Given the description of an element on the screen output the (x, y) to click on. 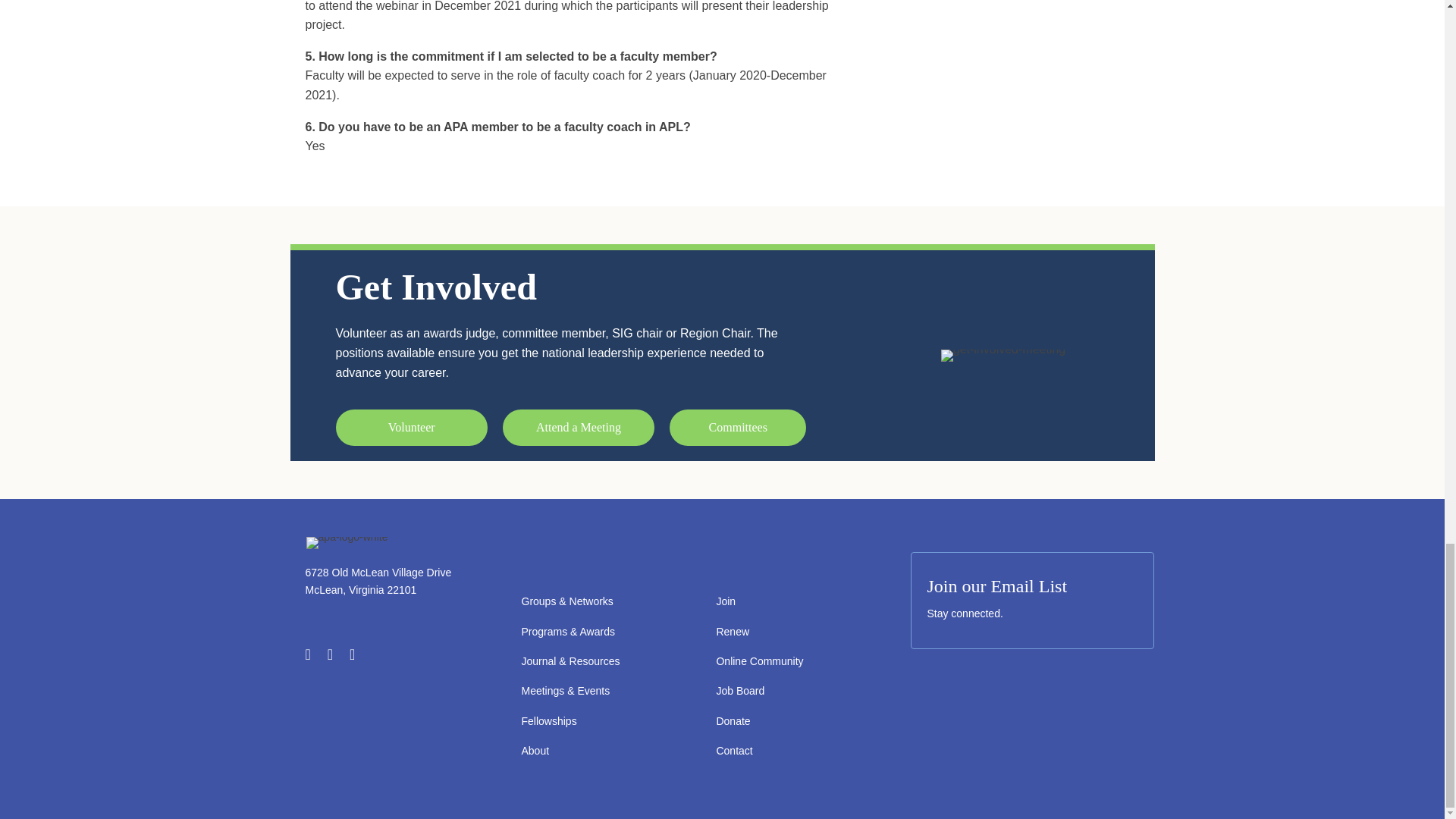
apa-logo-white (346, 542)
get-involved-meeting (1002, 355)
